Given the description of an element on the screen output the (x, y) to click on. 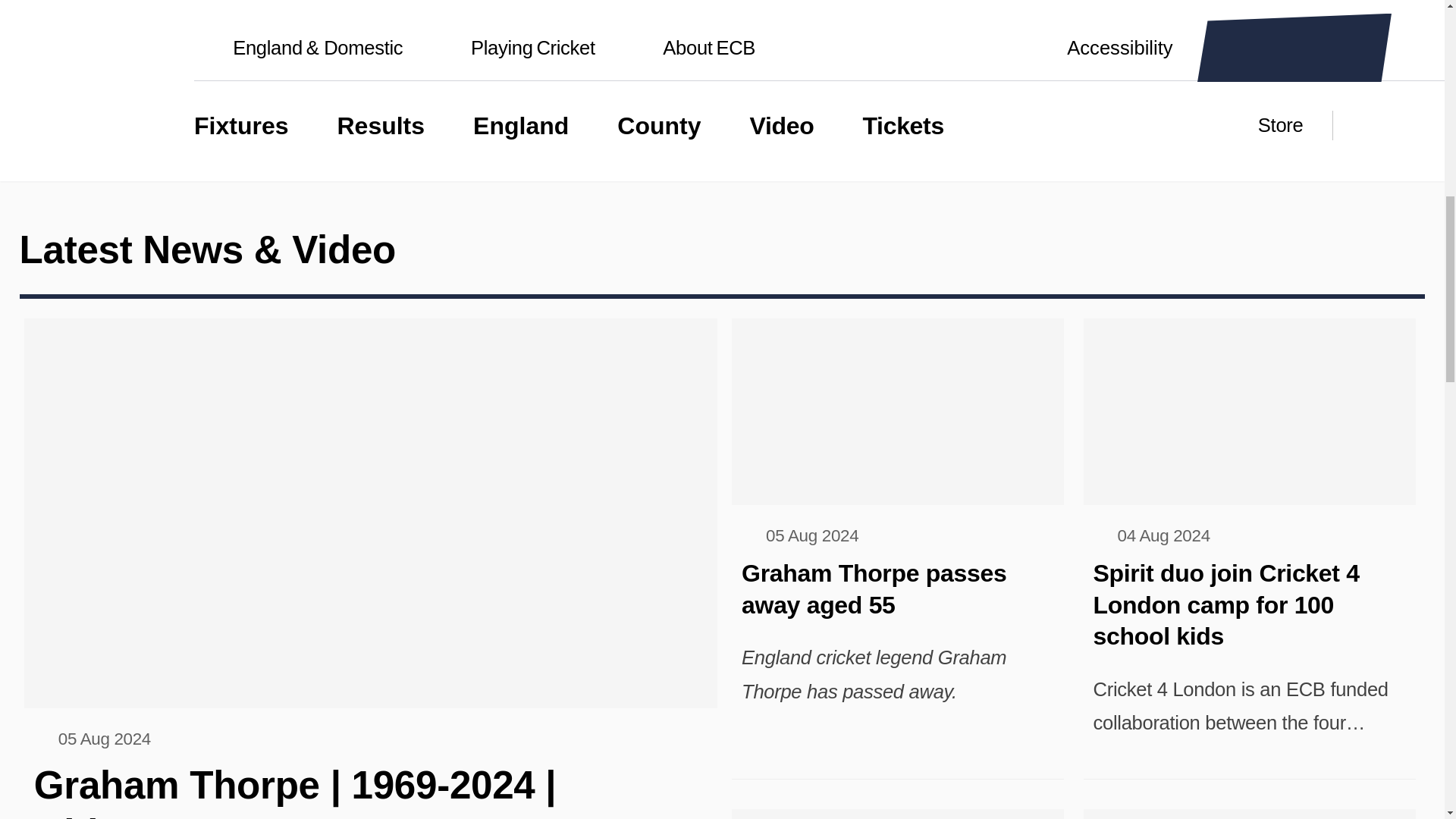
We're Stumped (179, 20)
England Men announce Test Squad for Sri Lanka Series (1249, 814)
Somerset hosts first-ever South West Super 1s festival (898, 814)
